Given the description of an element on the screen output the (x, y) to click on. 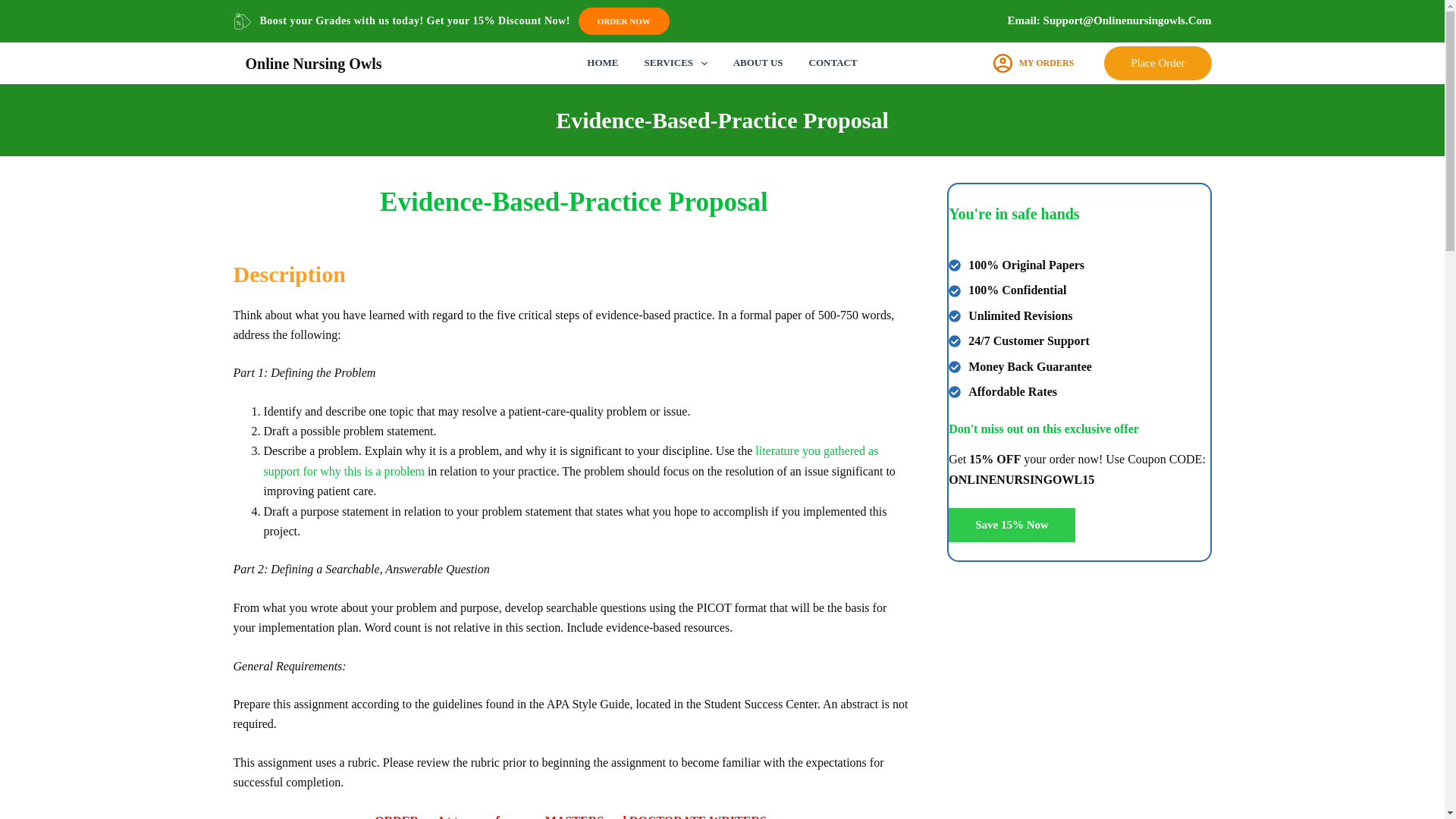
ORDER NOW (623, 21)
Skip to content (15, 7)
Evidence-Based-Practice Proposal (721, 120)
